Given the description of an element on the screen output the (x, y) to click on. 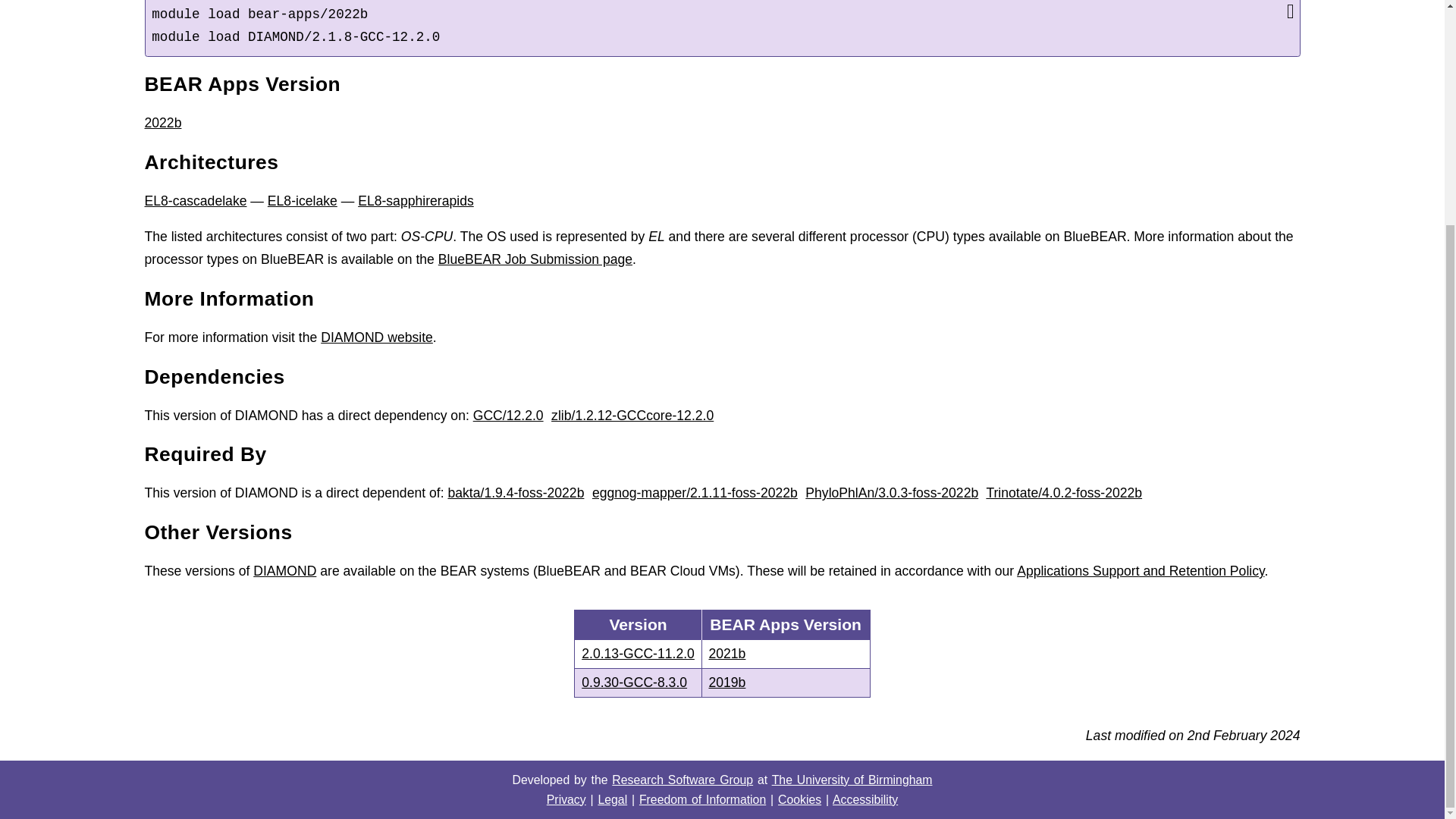
2019b (785, 682)
Applications Support and Retention Policy (1139, 570)
DIAMOND (284, 570)
EL8-sapphirerapids (416, 200)
2022b (162, 122)
Legal (611, 799)
Privacy (566, 799)
Freedom of Information (702, 799)
Cookies (799, 799)
Accessibility (865, 799)
DIAMOND website (376, 337)
2021b (785, 653)
0.9.30-GCC-8.3.0 (637, 682)
BlueBEAR Job Submission page (534, 258)
2.0.13-GCC-11.2.0 (637, 653)
